Given the description of an element on the screen output the (x, y) to click on. 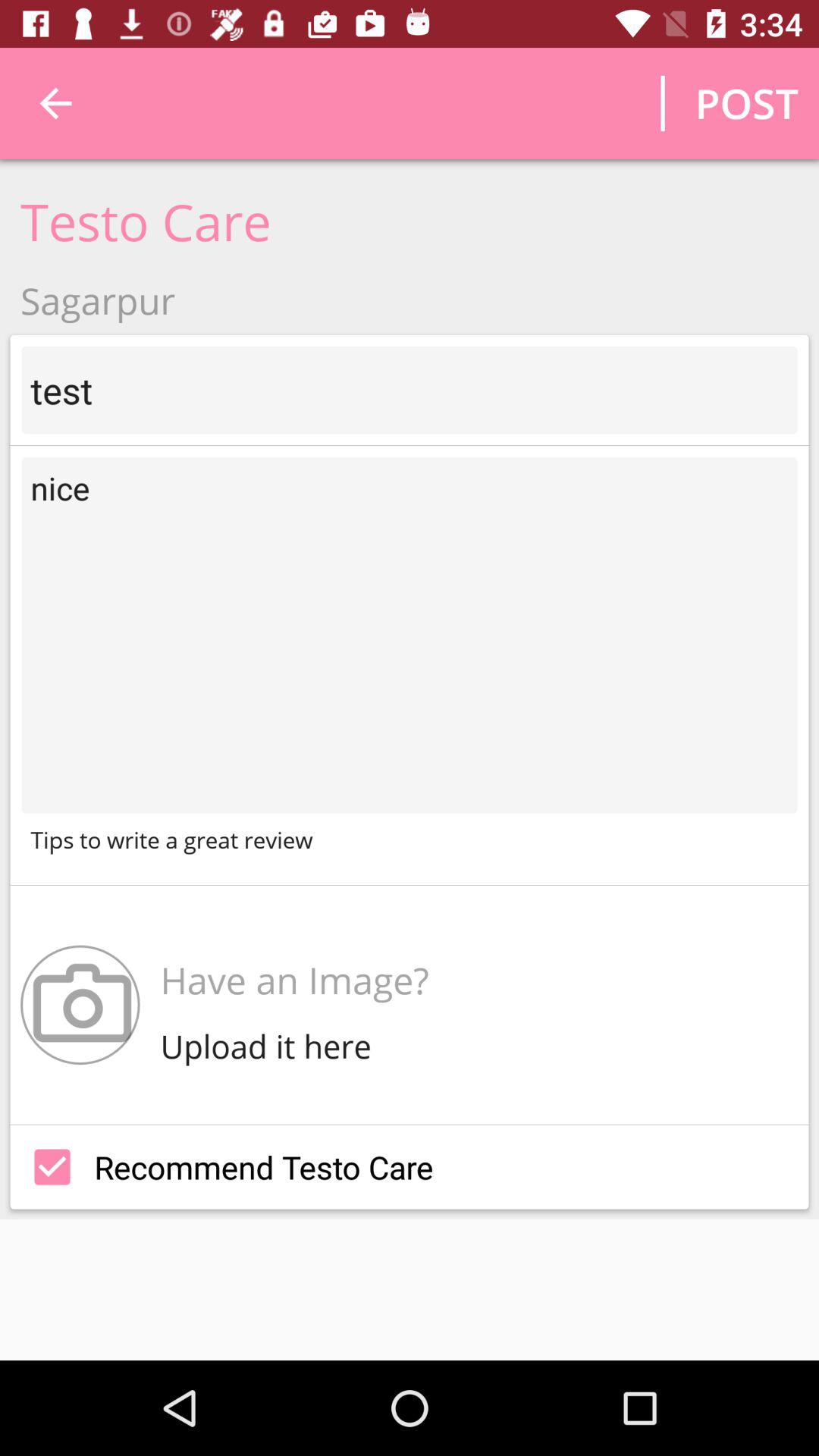
turn off icon to the left of have an image? icon (79, 1004)
